Given the description of an element on the screen output the (x, y) to click on. 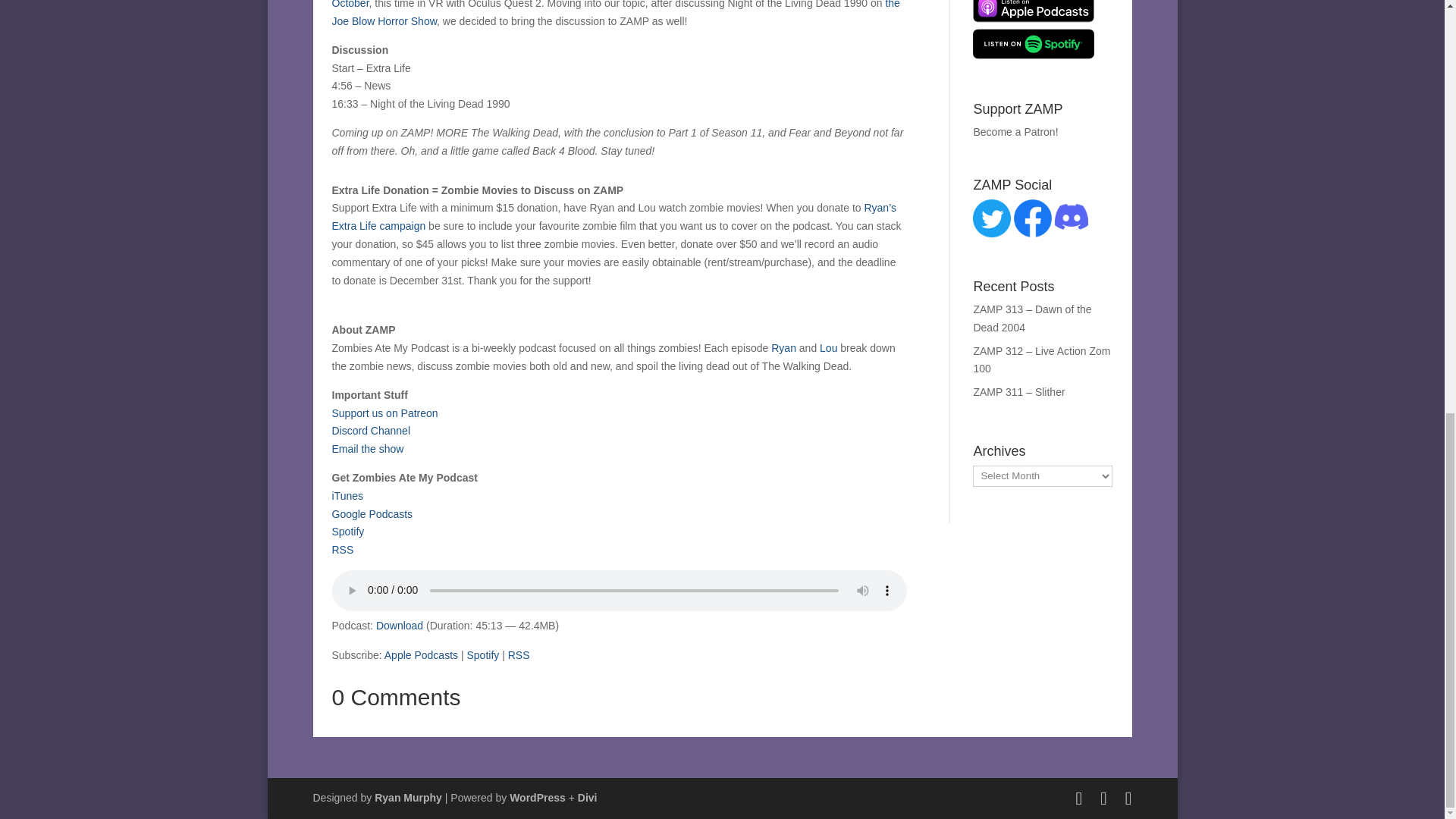
Email the show (367, 449)
Support us on Patreon (384, 413)
Become a Patron! (1015, 132)
Lou (828, 347)
Spotify (482, 654)
Apple Podcasts (421, 654)
Download (399, 625)
Subscribe via RSS (518, 654)
Download (399, 625)
the Joe Blow Horror Show (615, 13)
Subscribe on Apple Podcasts (421, 654)
Subscribe on Spotify (482, 654)
Spotify (348, 531)
RSS (518, 654)
